Given the description of an element on the screen output the (x, y) to click on. 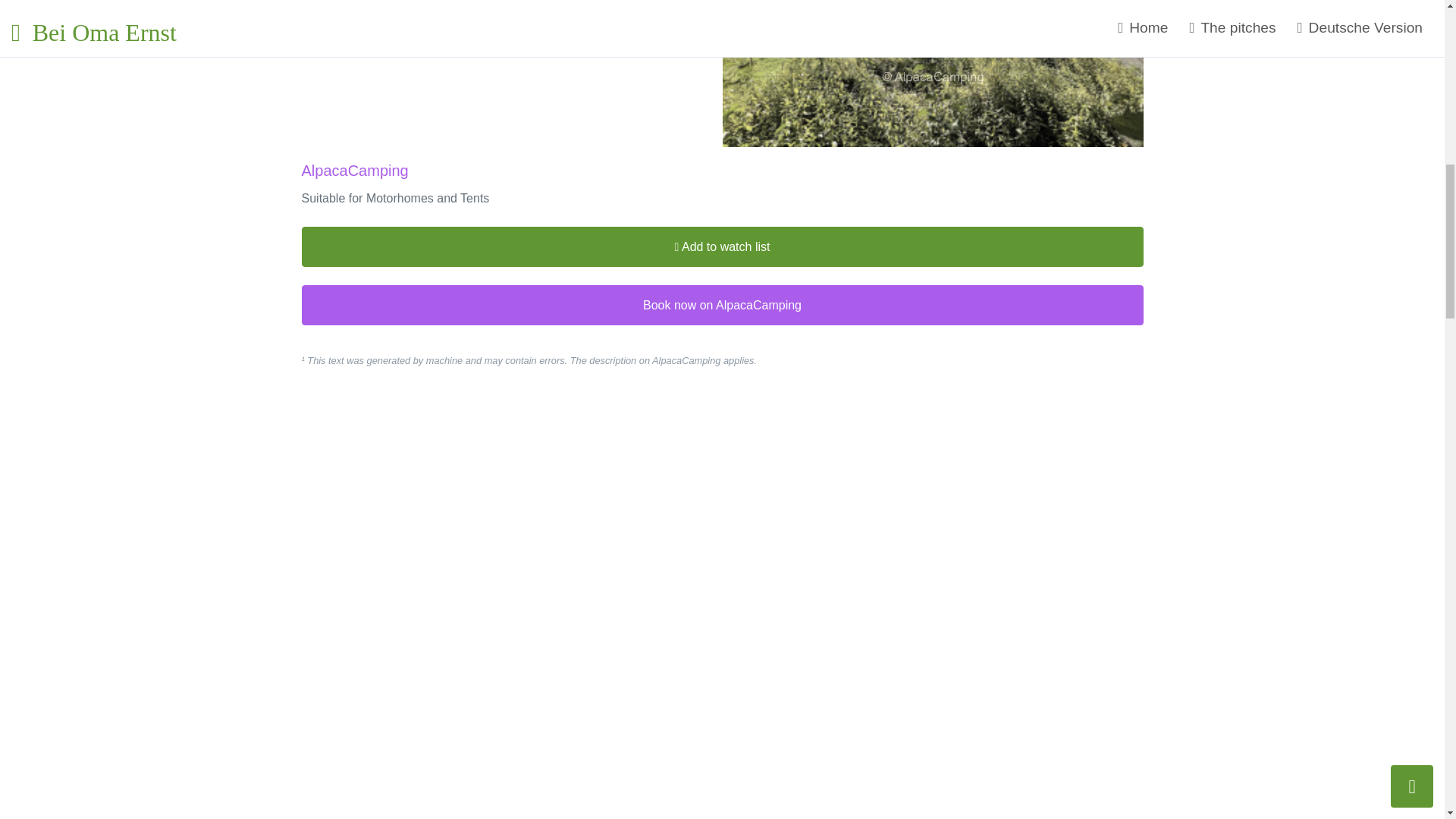
AlpacaCamping (424, 7)
Book now on AlpacaCamping (721, 305)
AlpacaCamping (355, 170)
 Add to watch list (721, 246)
